Given the description of an element on the screen output the (x, y) to click on. 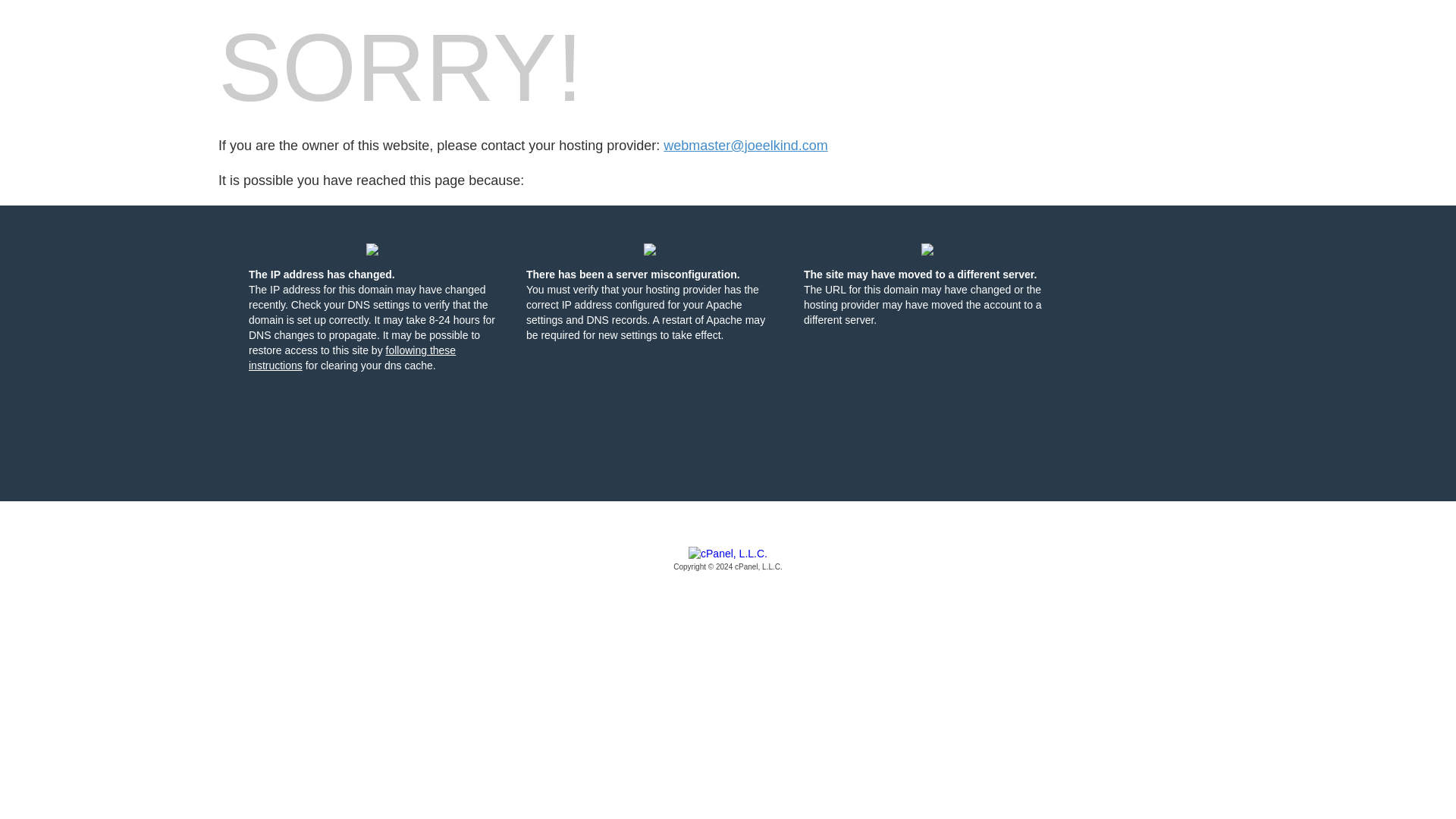
following these instructions (351, 357)
cPanel, L.L.C. (727, 559)
Click this link to contact the host (745, 145)
